Given the description of an element on the screen output the (x, y) to click on. 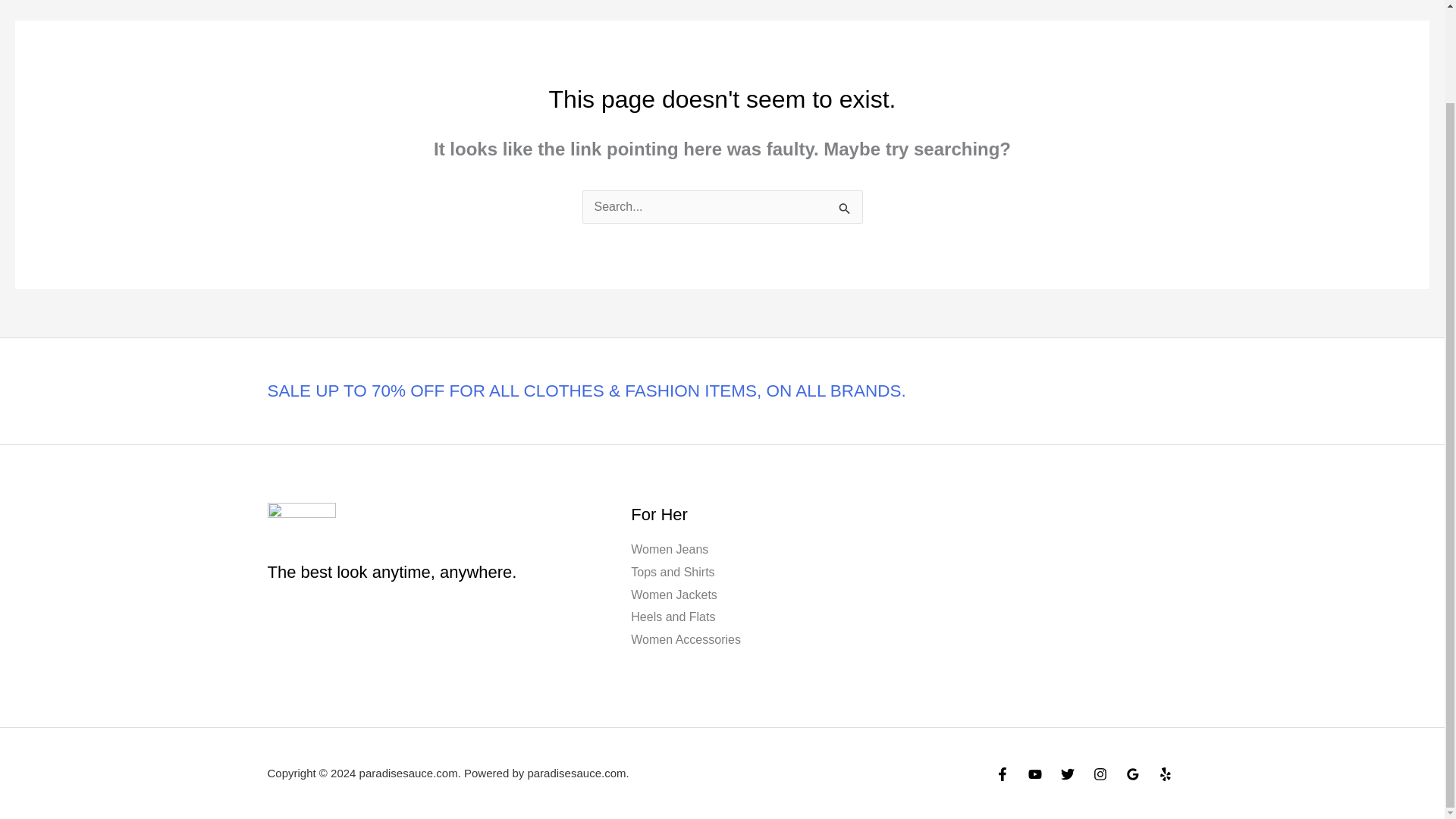
Tops and Shirts (672, 571)
Women Jackets (673, 594)
Heels and Flats (672, 616)
Women Accessories (685, 639)
Women Jeans (668, 549)
